Given the description of an element on the screen output the (x, y) to click on. 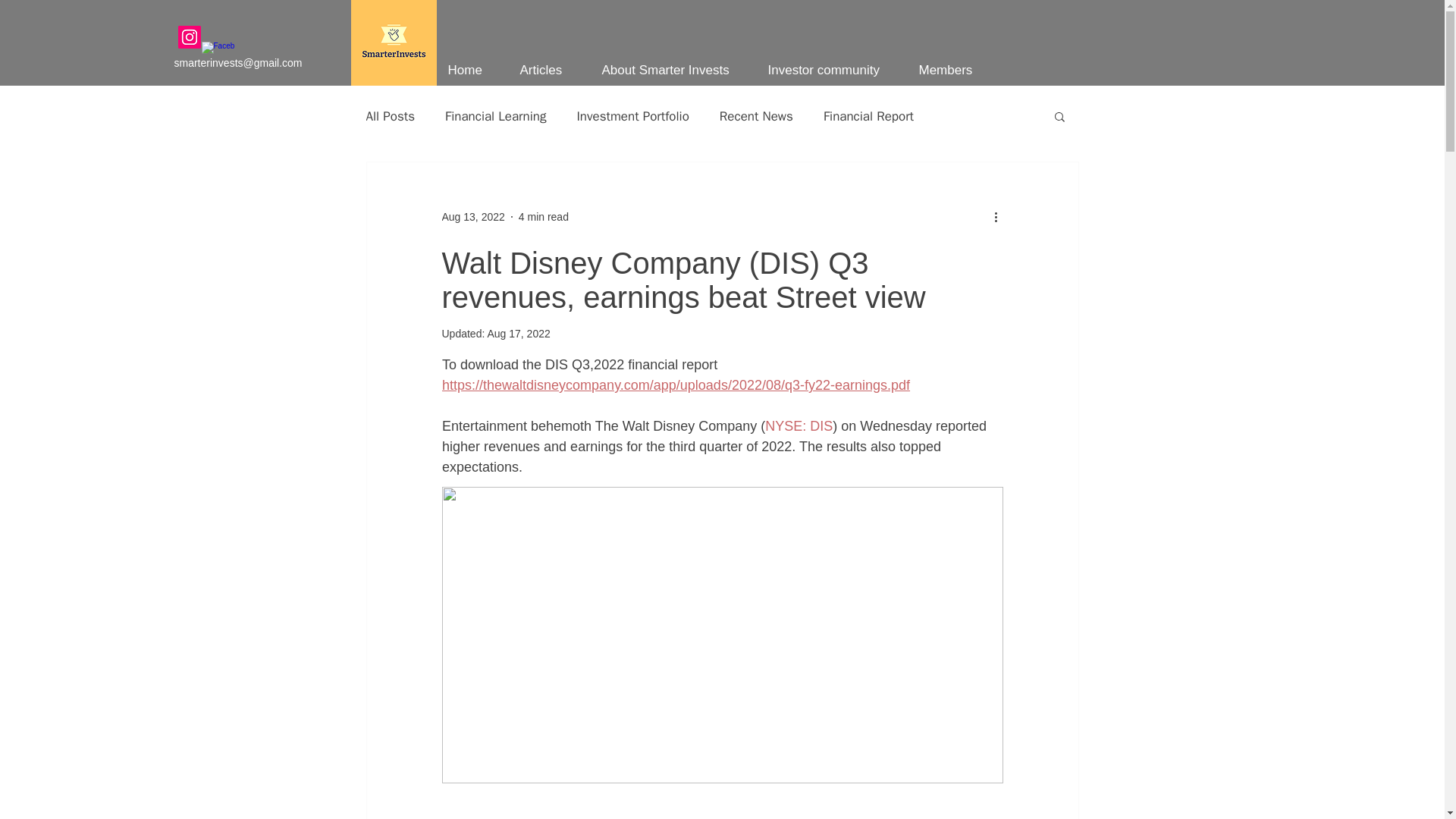
Articles (548, 69)
Financial Learning (495, 116)
Recent News (756, 116)
About Smarter Invests (672, 69)
Aug 13, 2022 (472, 216)
Investment Portfolio (632, 116)
NYSE: DIS (798, 426)
All Posts (389, 116)
logo.png (392, 42)
Aug 17, 2022 (518, 333)
